Given the description of an element on the screen output the (x, y) to click on. 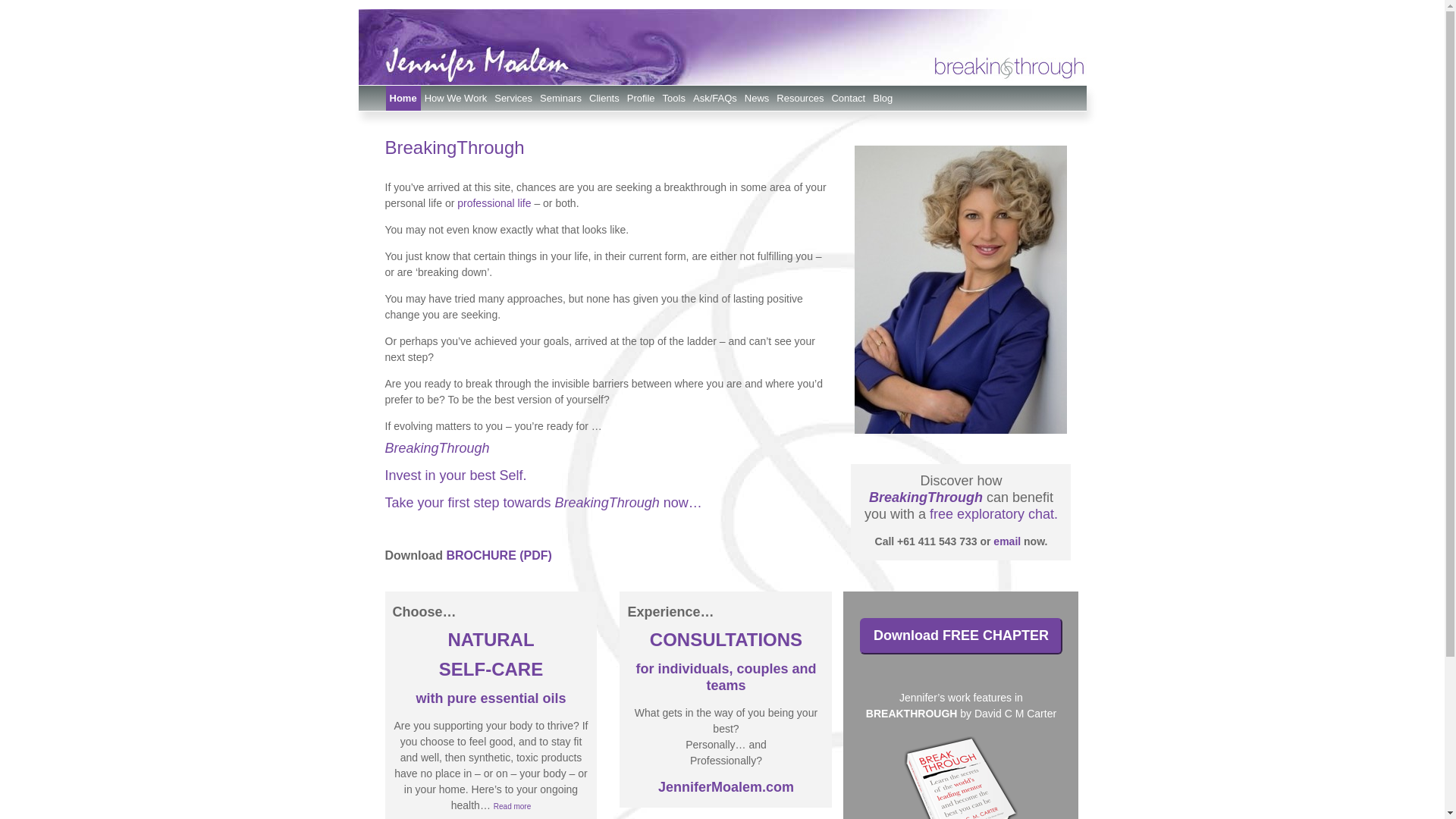
Profile Element type: text (640, 97)
JenniferMoalem.com Element type: text (725, 786)
Home Element type: text (402, 97)
Seminars Element type: text (560, 97)
Jennifer Moalem JM003 Element type: hover (960, 289)
Read more Element type: text (511, 805)
Download BROCHURE (PDF) Element type: text (468, 555)
Download FREE CHAPTER Element type: text (960, 636)
Ask/FAQs Element type: text (714, 97)
How We Work Element type: text (455, 97)
professional life Element type: text (493, 203)
Resources Element type: text (799, 97)
Tools Element type: text (673, 97)
email Element type: text (1006, 541)
Blog Element type: text (882, 97)
Clients Element type: text (604, 97)
Contact Element type: text (848, 97)
News Element type: text (756, 97)
Services Element type: text (513, 97)
